Given the description of an element on the screen output the (x, y) to click on. 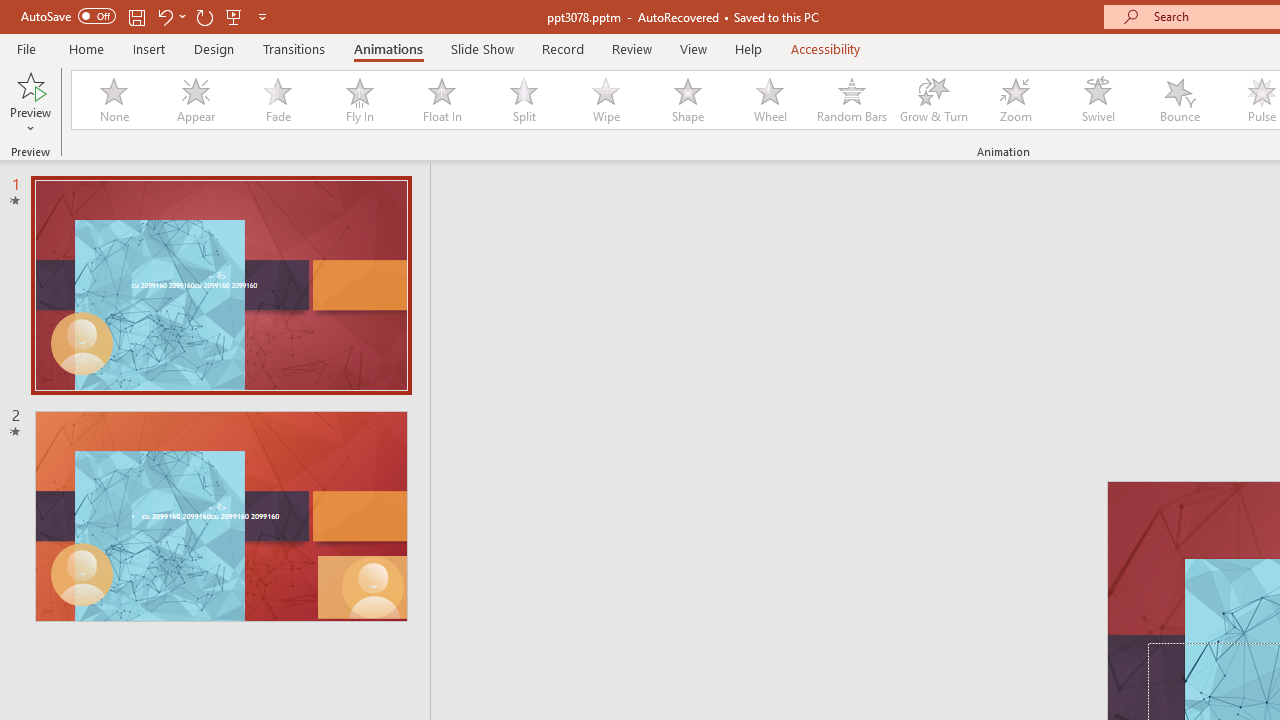
Shape (687, 100)
Swivel (1098, 100)
Bounce (1180, 100)
